Given the description of an element on the screen output the (x, y) to click on. 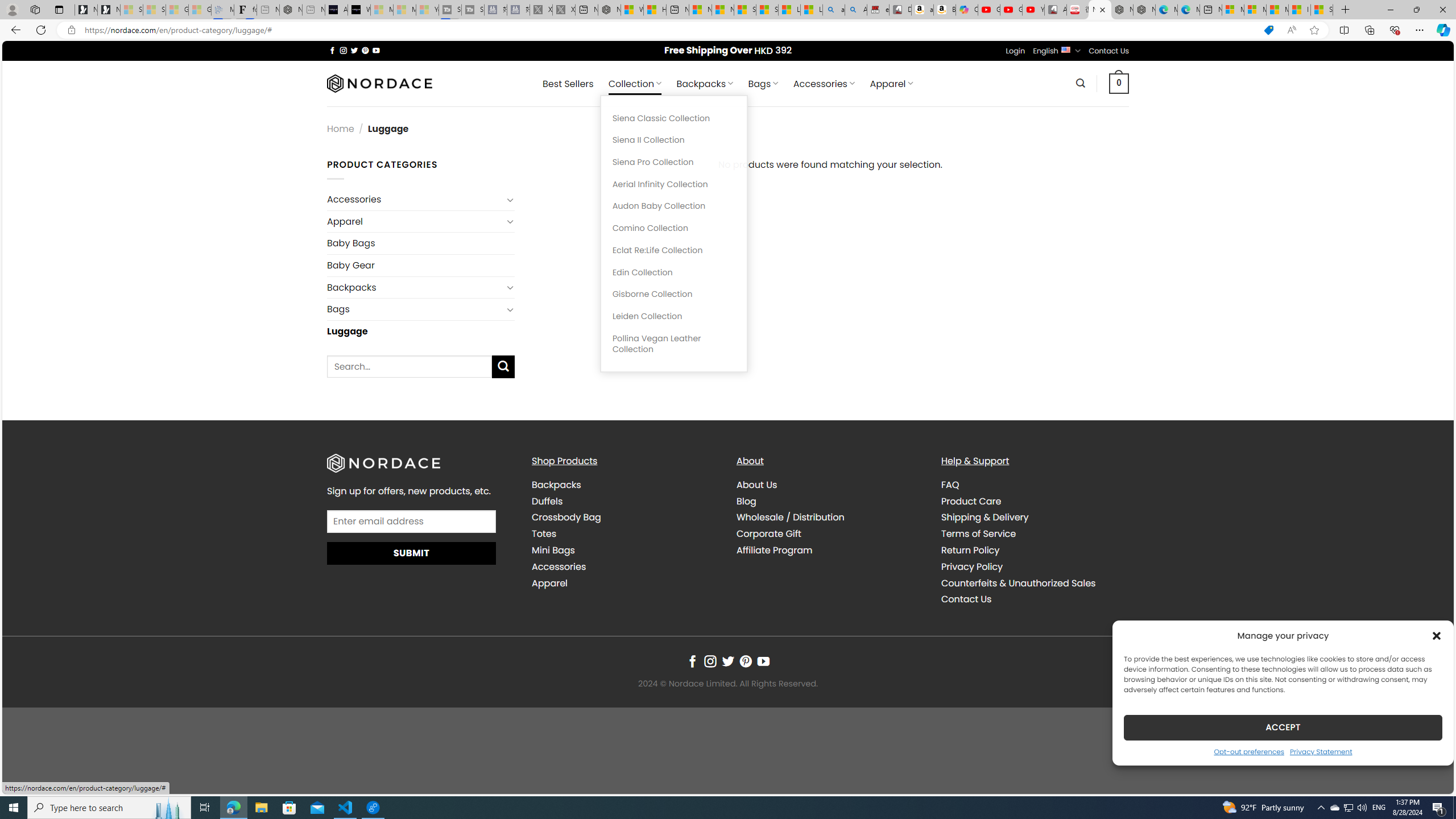
Leiden Collection (672, 316)
Mini Bags (625, 549)
Pollina Vegan Leather Collection (672, 343)
Streaming Coverage | T3 - Sleeping (449, 9)
Siena Classic Collection (672, 118)
Follow on Instagram (710, 661)
Privacy Policy (1034, 566)
Totes (625, 533)
English (1065, 49)
  0   (1118, 83)
Login (1015, 50)
Product Care (1034, 501)
